Given the description of an element on the screen output the (x, y) to click on. 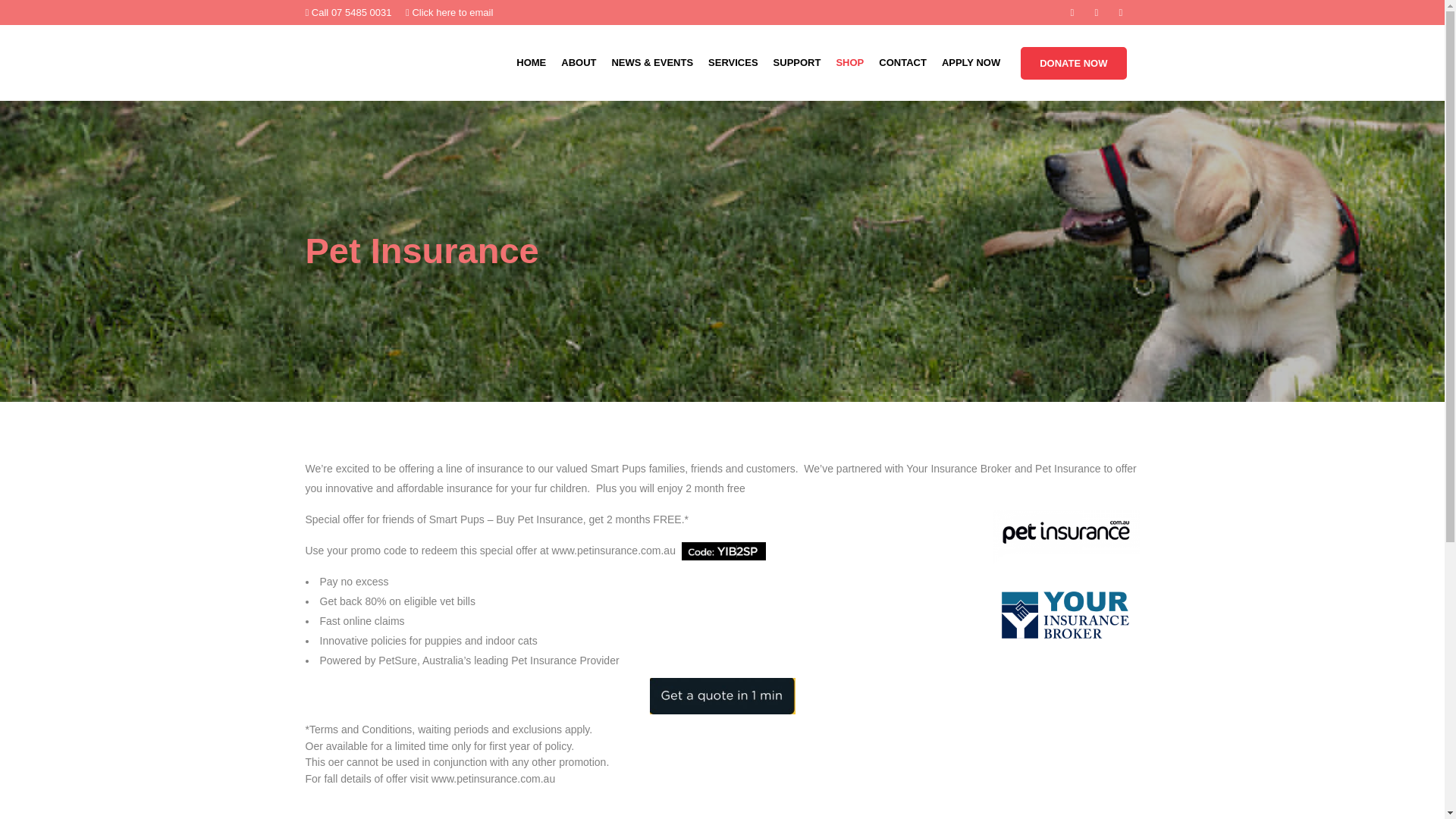
07 5485 0031 (361, 12)
DONATE NOW (1072, 62)
APPLY NOW (970, 62)
Click here (433, 12)
